Given the description of an element on the screen output the (x, y) to click on. 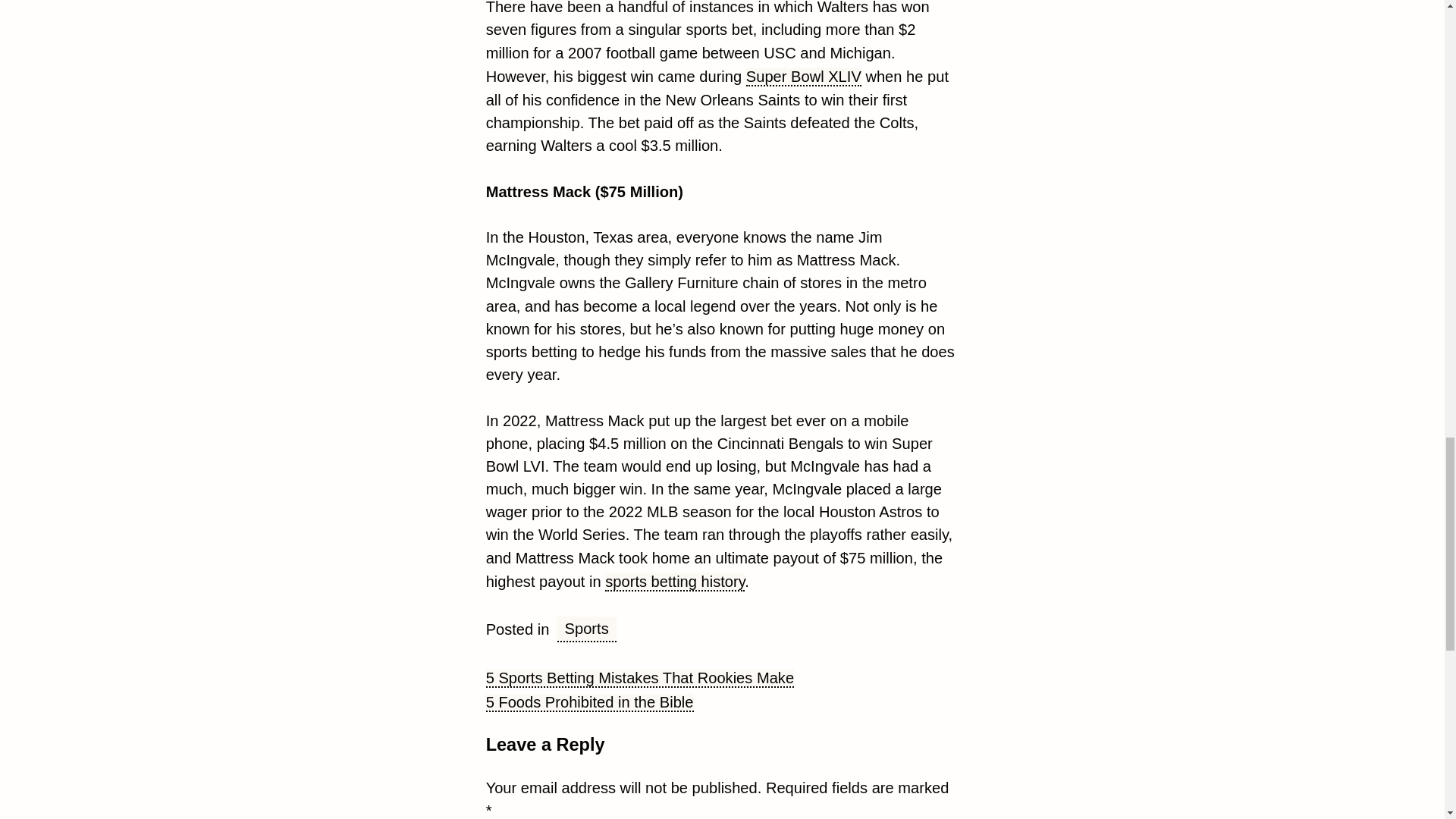
Sports (586, 629)
5 Sports Betting Mistakes That Rookies Make (639, 678)
Super Bowl XLIV (803, 76)
5 Foods Prohibited in the Bible (590, 702)
sports betting history (674, 582)
